Given the description of an element on the screen output the (x, y) to click on. 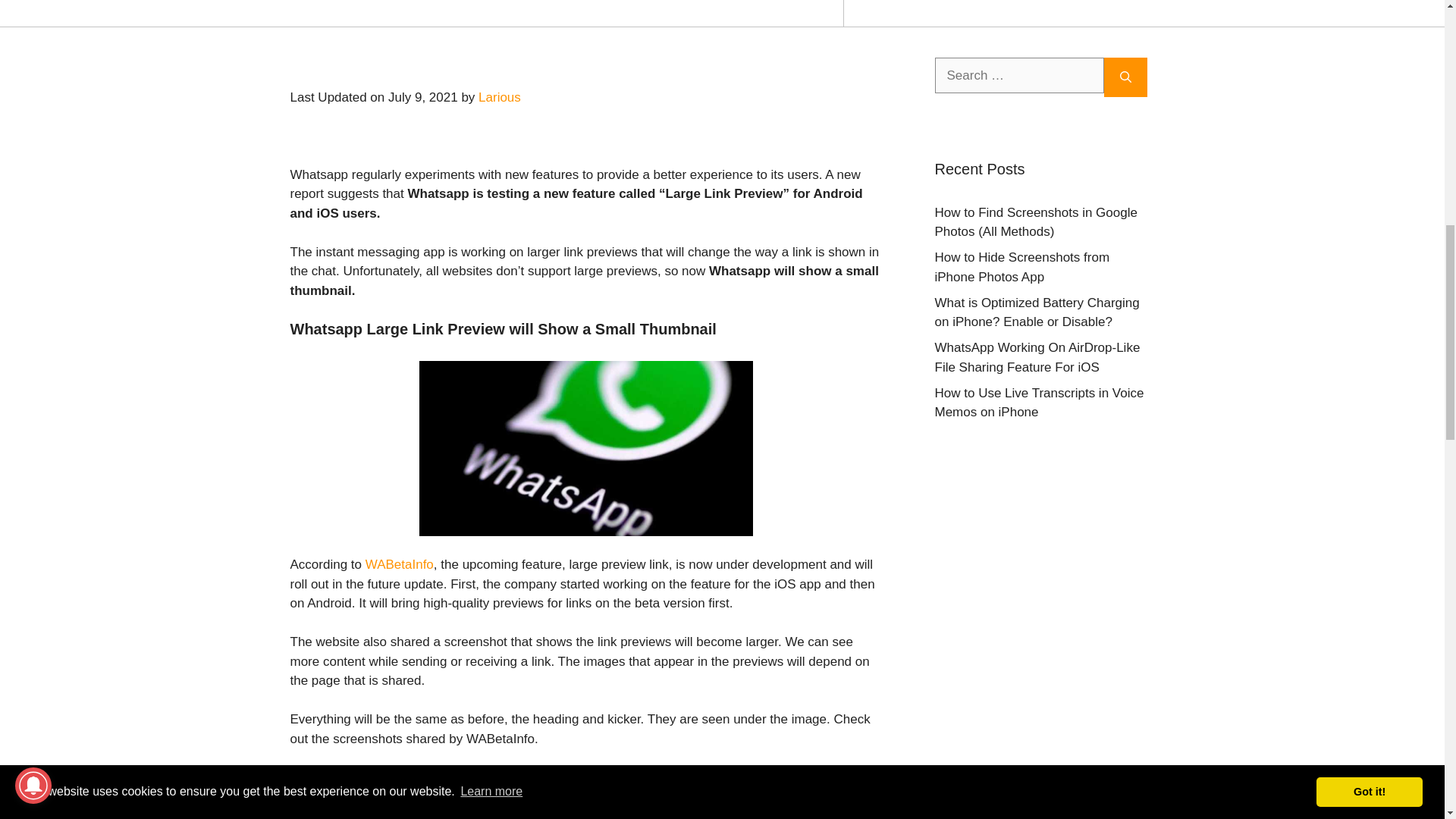
Scroll back to top (1406, 720)
WABetaInfo (399, 564)
Search for: (1018, 75)
Larious (500, 97)
